Given the description of an element on the screen output the (x, y) to click on. 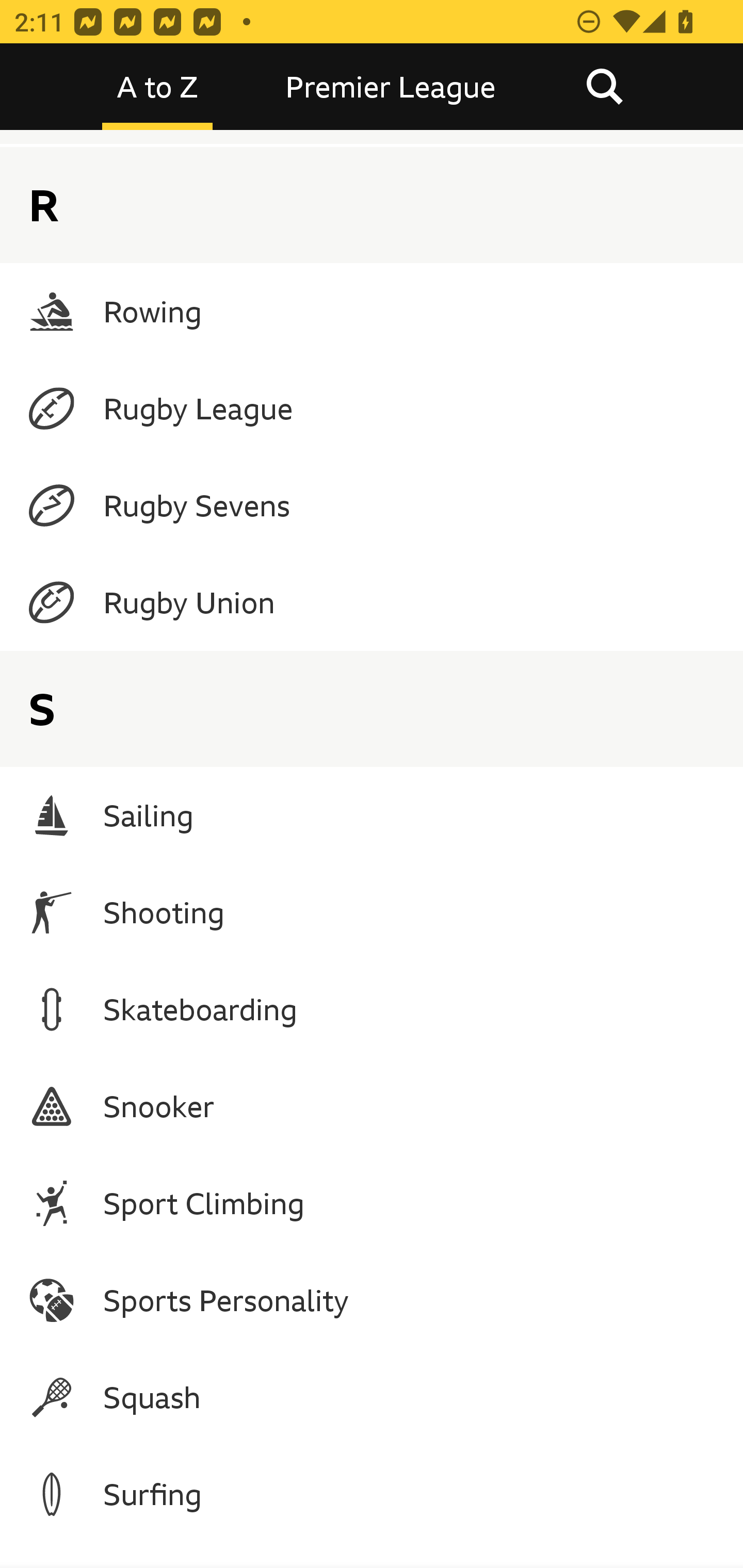
Premier League (390, 86)
Search (604, 86)
Rowing (371, 311)
Rugby League (371, 408)
Rugby Sevens (371, 504)
Rugby Union (371, 601)
Sailing (371, 814)
Shooting (371, 912)
Skateboarding (371, 1009)
Snooker (371, 1106)
Sport Climbing (371, 1203)
Sports Personality (371, 1299)
Squash (371, 1396)
Surfing (371, 1493)
